Given the description of an element on the screen output the (x, y) to click on. 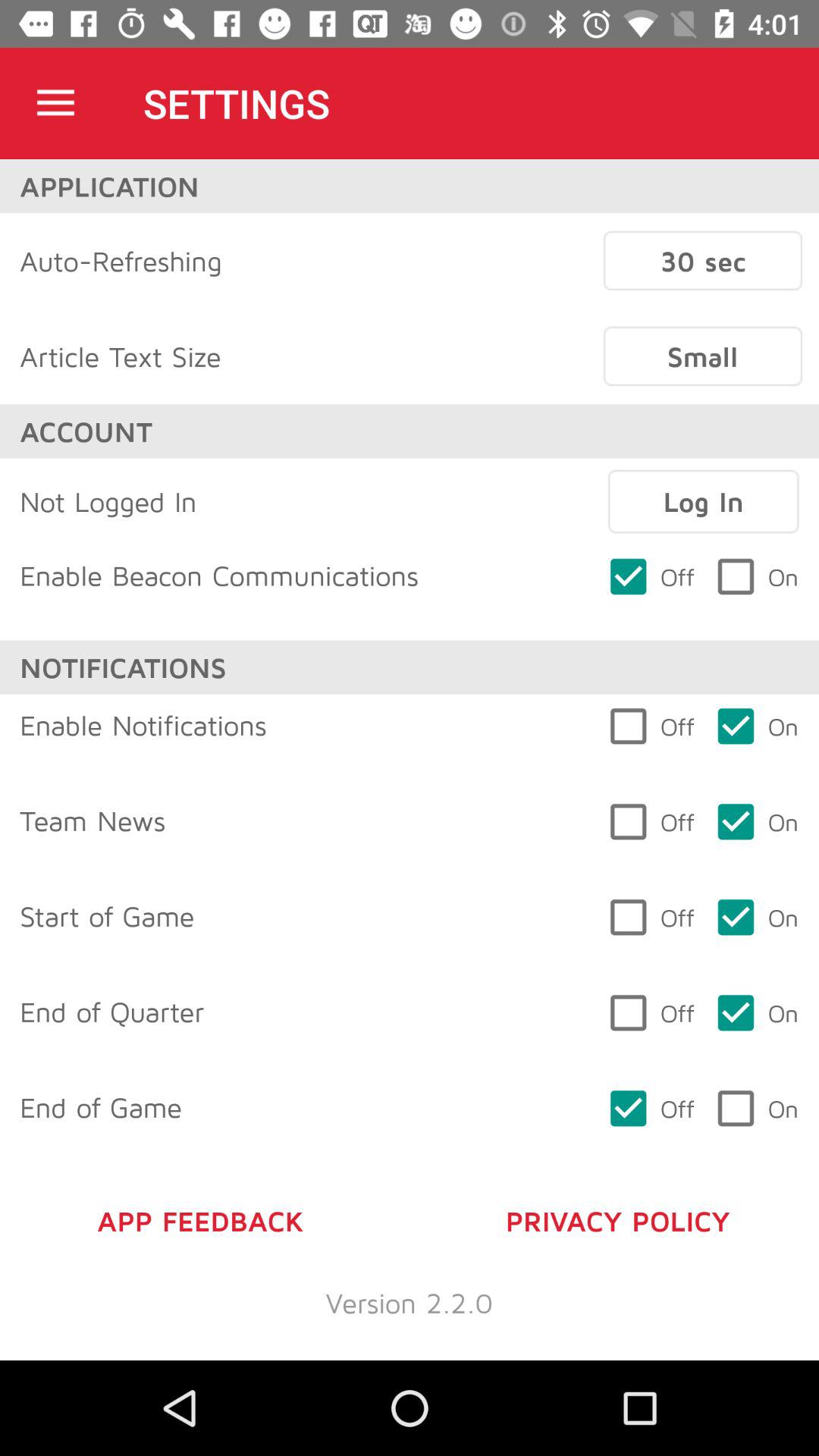
turn off log in icon (703, 501)
